Given the description of an element on the screen output the (x, y) to click on. 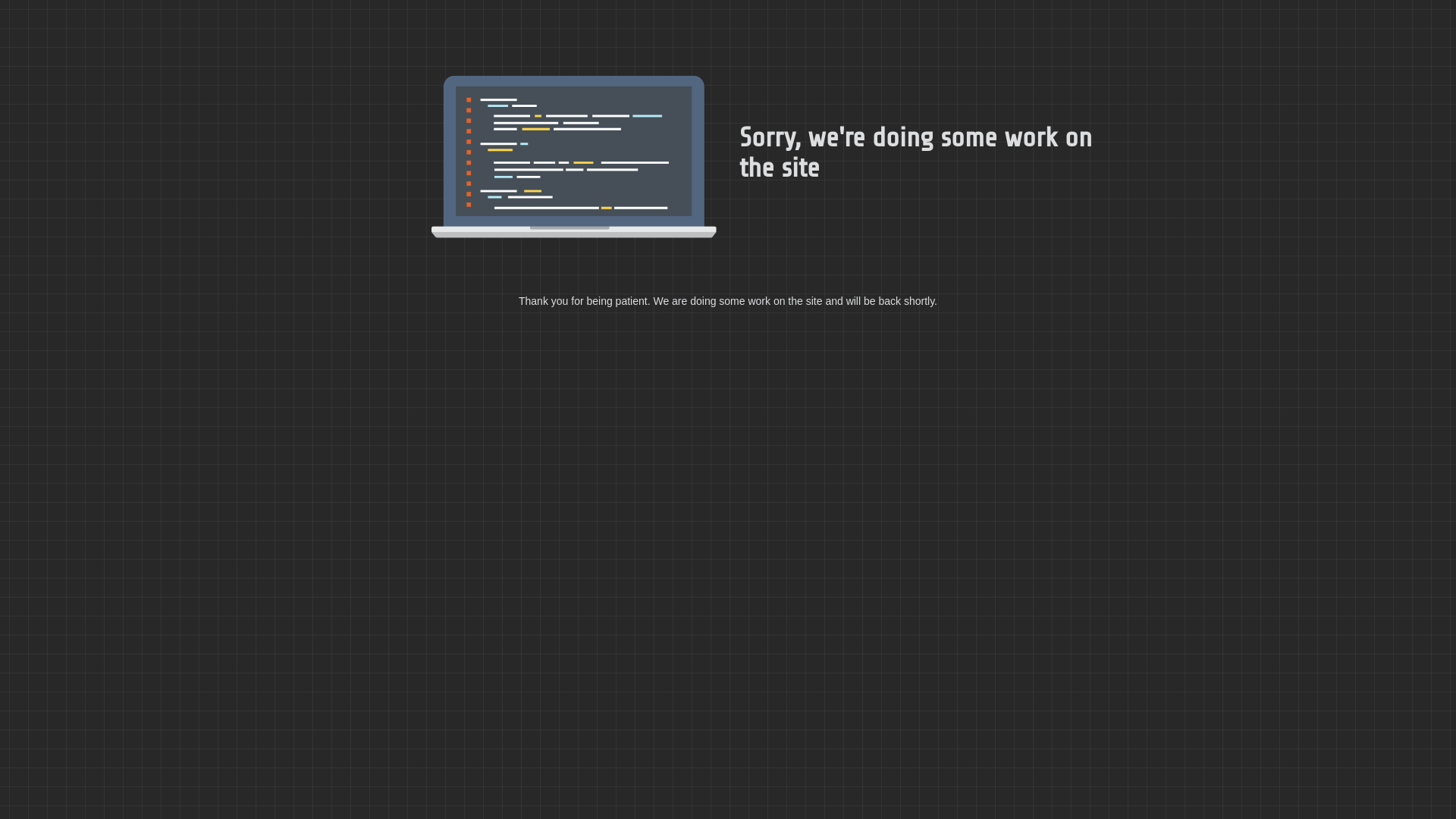
Our minions are coding away as we speak Element type: hover (573, 156)
